Given the description of an element on the screen output the (x, y) to click on. 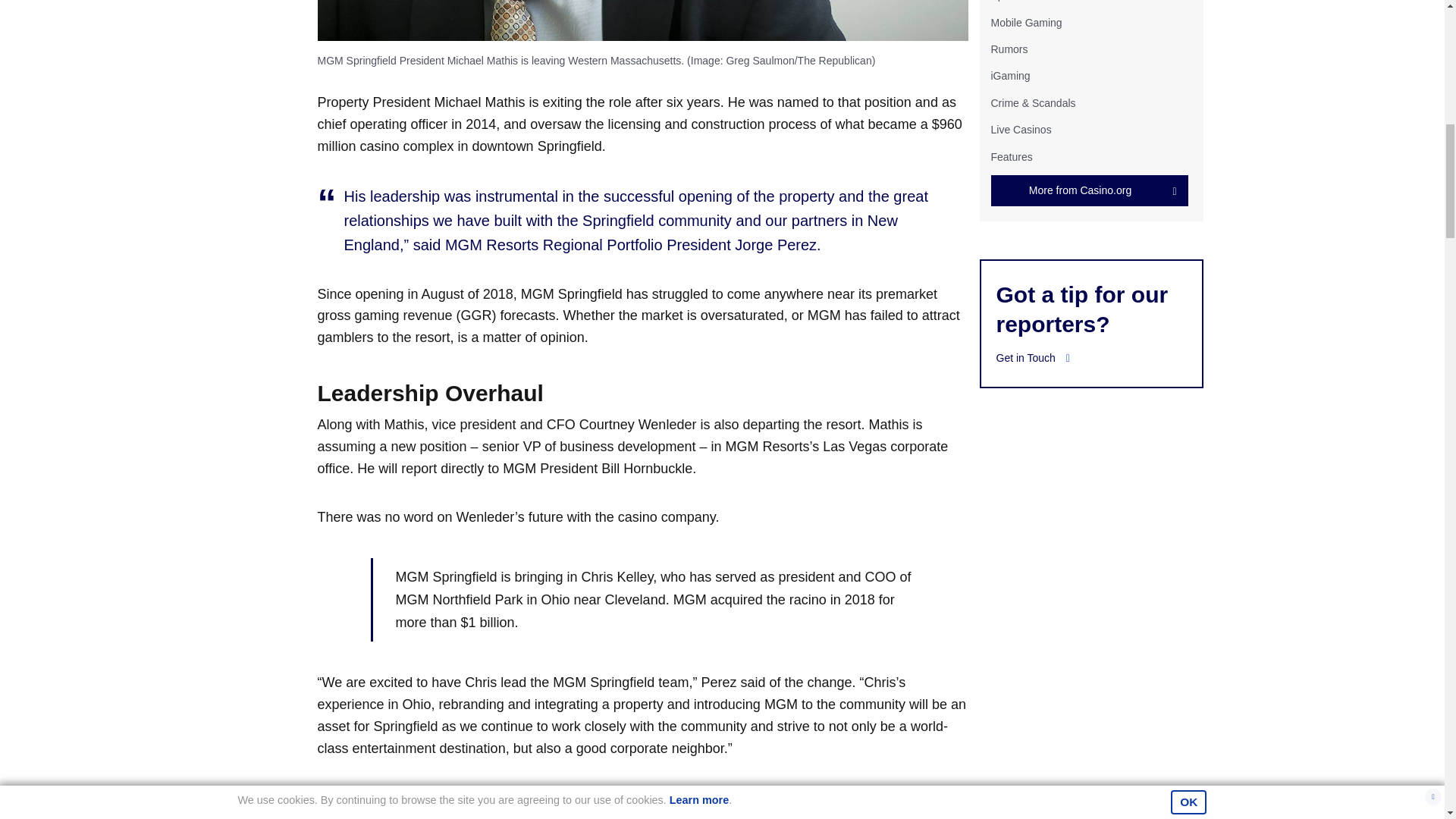
Rumors (1008, 49)
Live Casinos (1020, 129)
Features (1011, 155)
Mobile Gaming (1025, 22)
iGaming (1009, 75)
Sports (1005, 0)
